Given the description of an element on the screen output the (x, y) to click on. 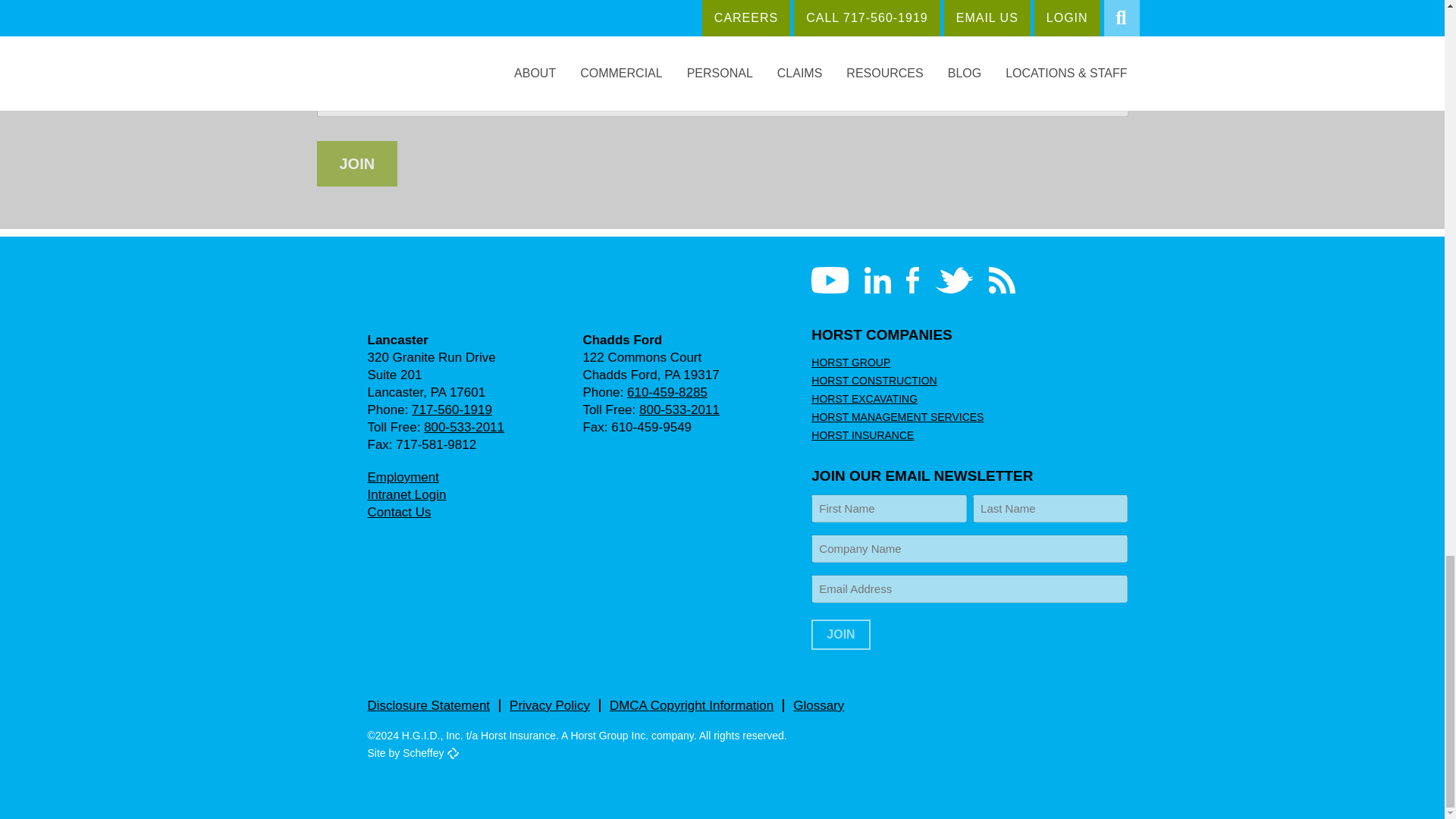
Read more at twitter (954, 279)
Read more at LinkedIn (877, 279)
Join (357, 163)
Join (357, 163)
800-533-2011 (463, 427)
Contact Us (398, 512)
Read more at RSS Feed (1001, 279)
Follow logo link to the Scheffey website (452, 753)
800-533-2011 (679, 409)
Intranet Login (405, 494)
Call 717-560-1919 (452, 409)
Call 800-533-2011 (463, 427)
Call 610-459-8285 (667, 391)
Join (839, 634)
Call 800-533-2011 (679, 409)
